Given the description of an element on the screen output the (x, y) to click on. 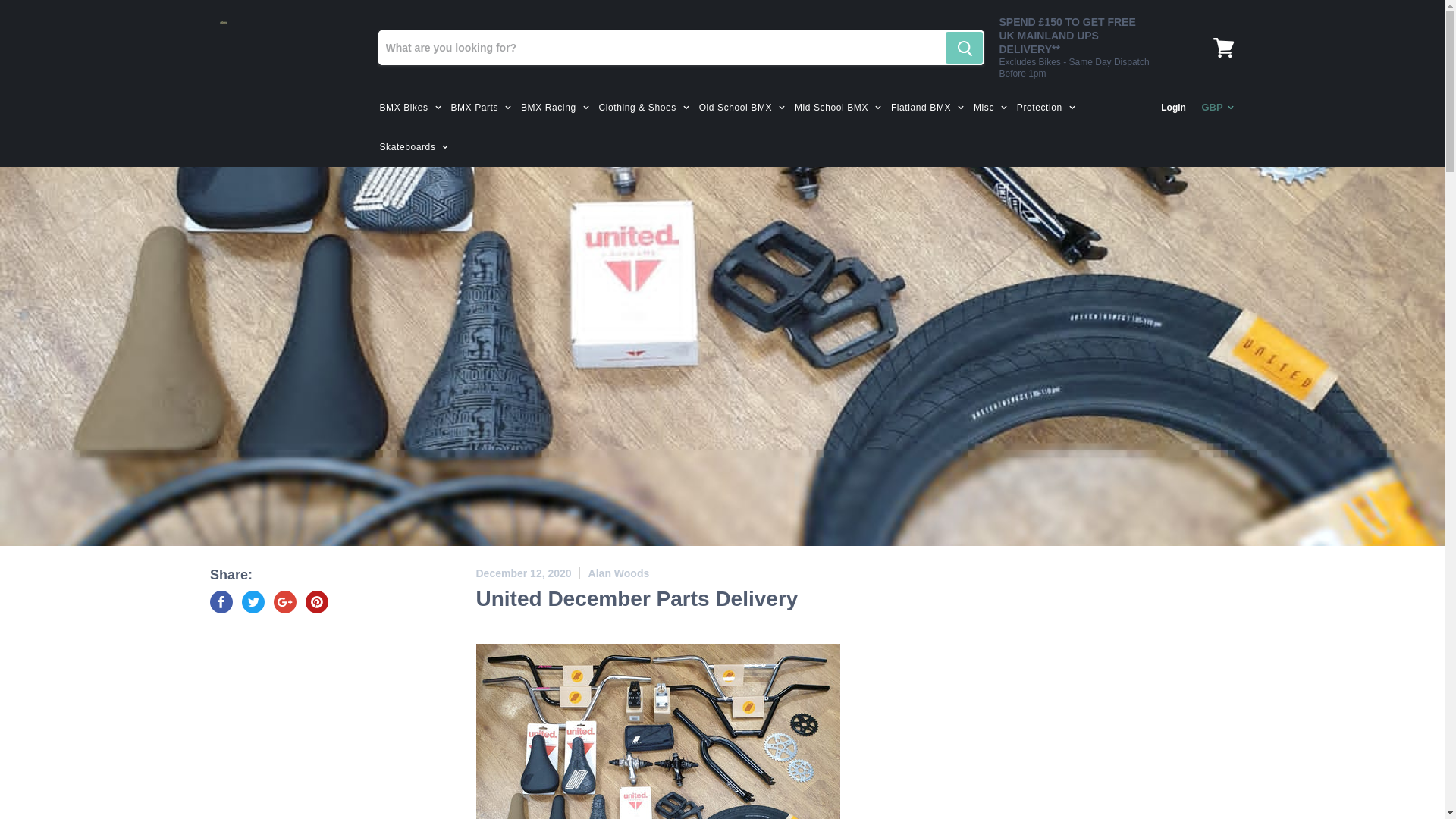
BMX Bikes (408, 107)
View cart (1223, 47)
BMX Parts (478, 107)
